Given the description of an element on the screen output the (x, y) to click on. 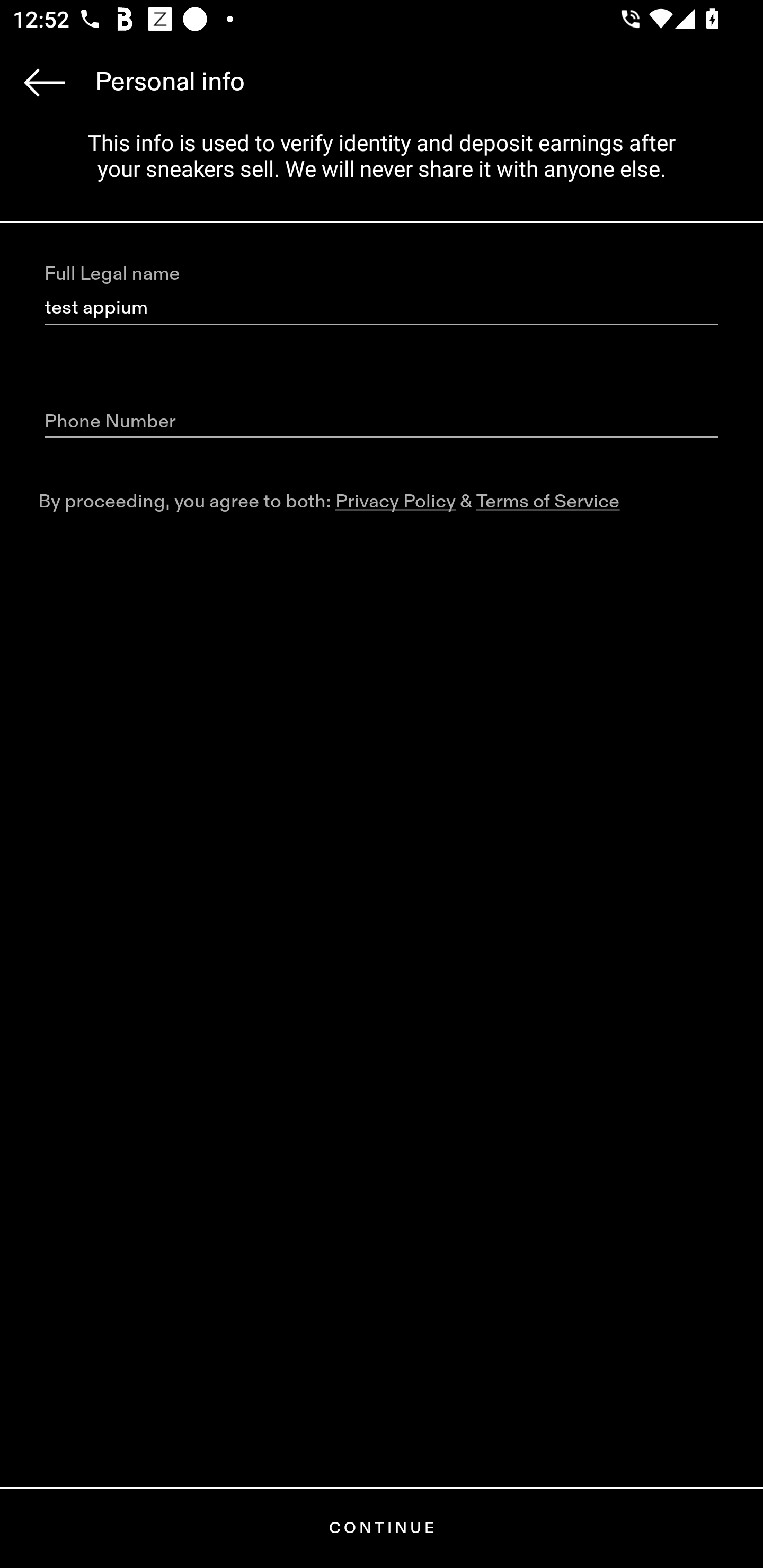
Navigate up (44, 82)
test appium (381, 308)
Phone Number (381, 422)
CONTINUE (381, 1528)
